Given the description of an element on the screen output the (x, y) to click on. 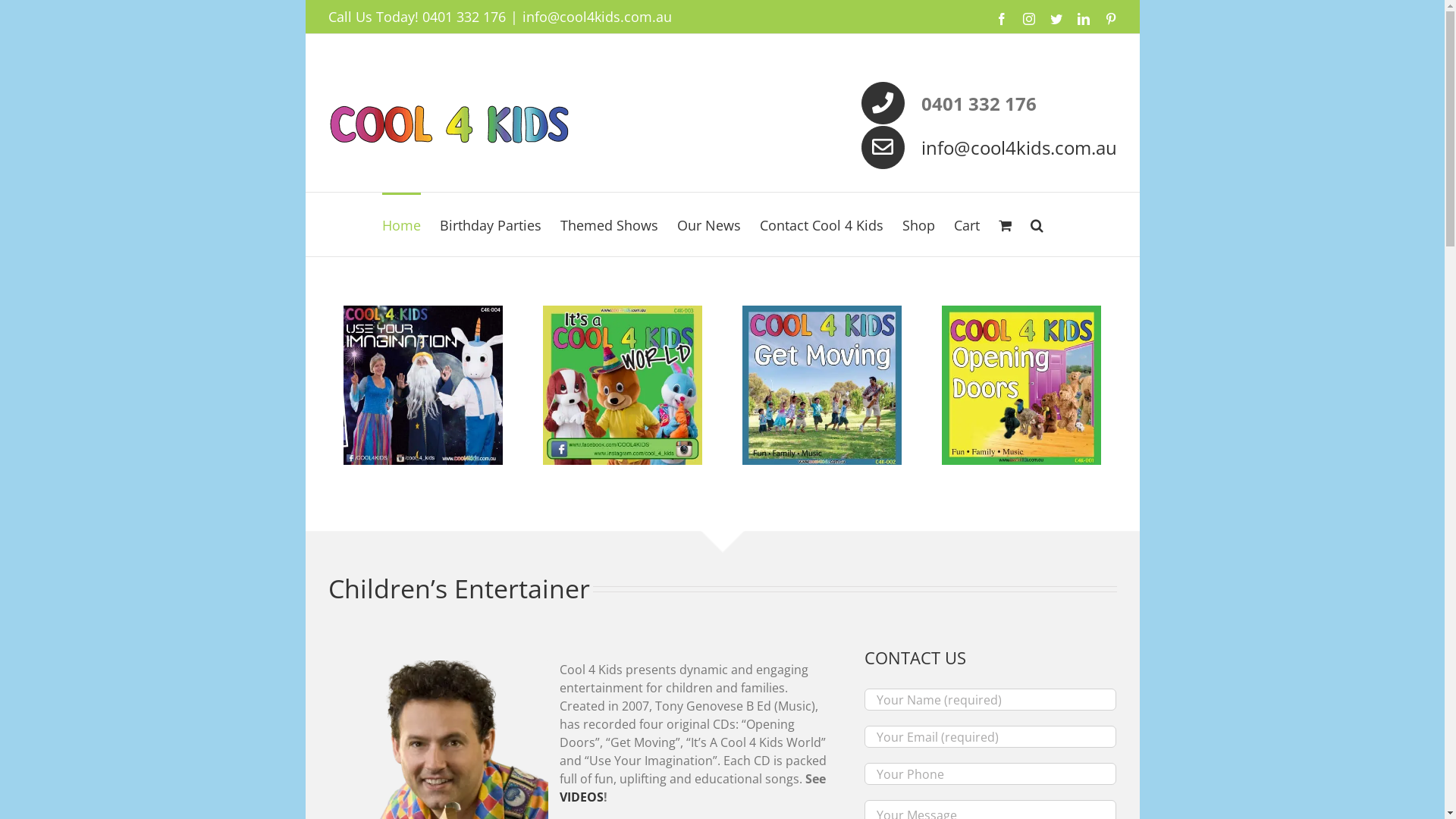
Pinterest Element type: text (1110, 18)
Home Element type: text (401, 224)
Shop Element type: text (918, 224)
Birthday Parties Element type: text (490, 224)
info@cool4kids.com.au Element type: text (596, 16)
VIDEOS Element type: text (581, 796)
Twitter Element type: text (1055, 18)
Themed Shows Element type: text (609, 224)
Search Element type: hover (1036, 224)
Cart Element type: text (966, 224)
Facebook Element type: text (1000, 18)
Instagram Element type: text (1028, 18)
LinkedIn Element type: text (1082, 18)
Contact Cool 4 Kids Element type: text (821, 224)
Our News Element type: text (708, 224)
info@cool4kids.com.au Element type: text (1018, 147)
